Given the description of an element on the screen output the (x, y) to click on. 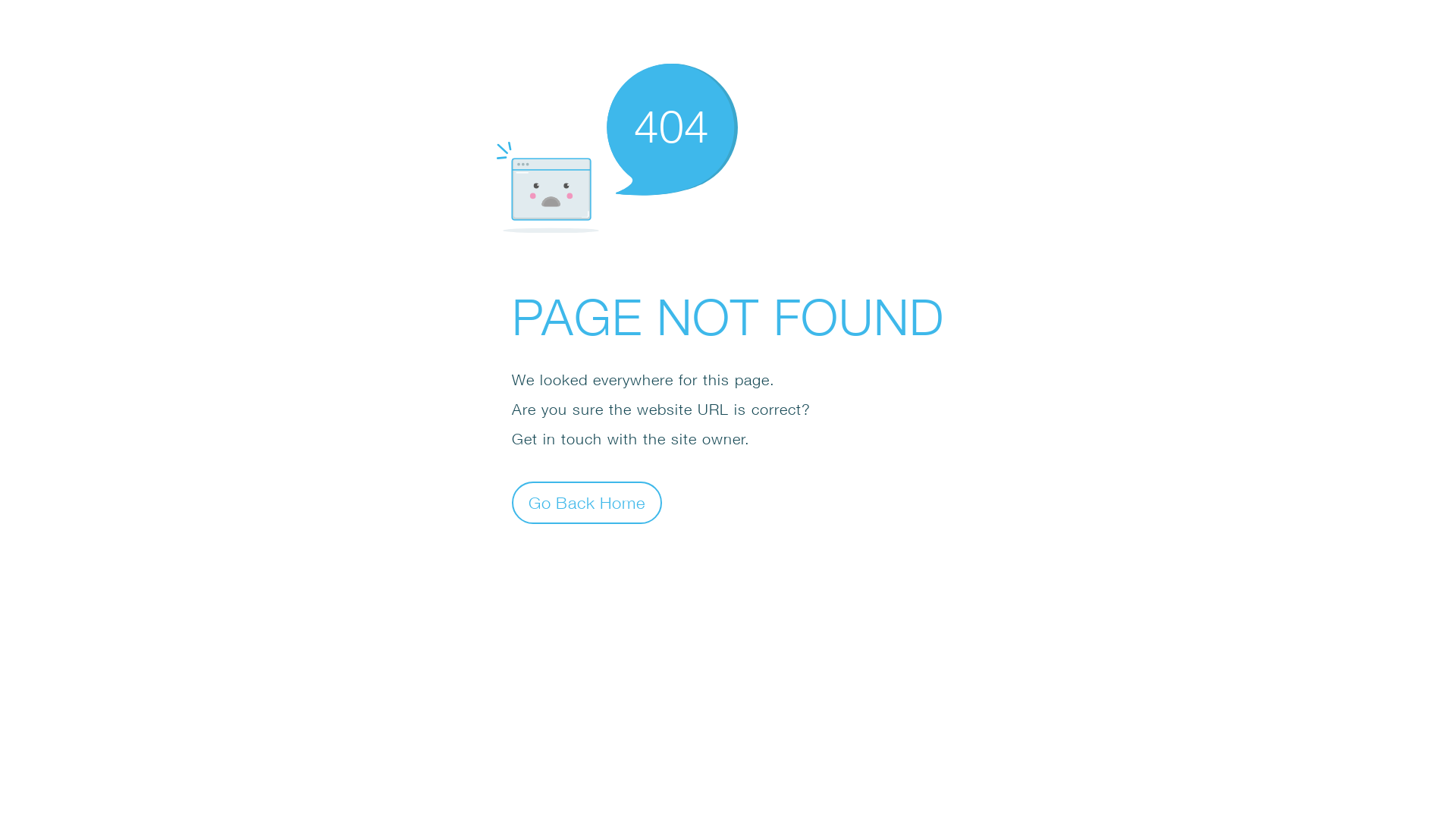
Go Back Home Element type: text (586, 502)
